Given the description of an element on the screen output the (x, y) to click on. 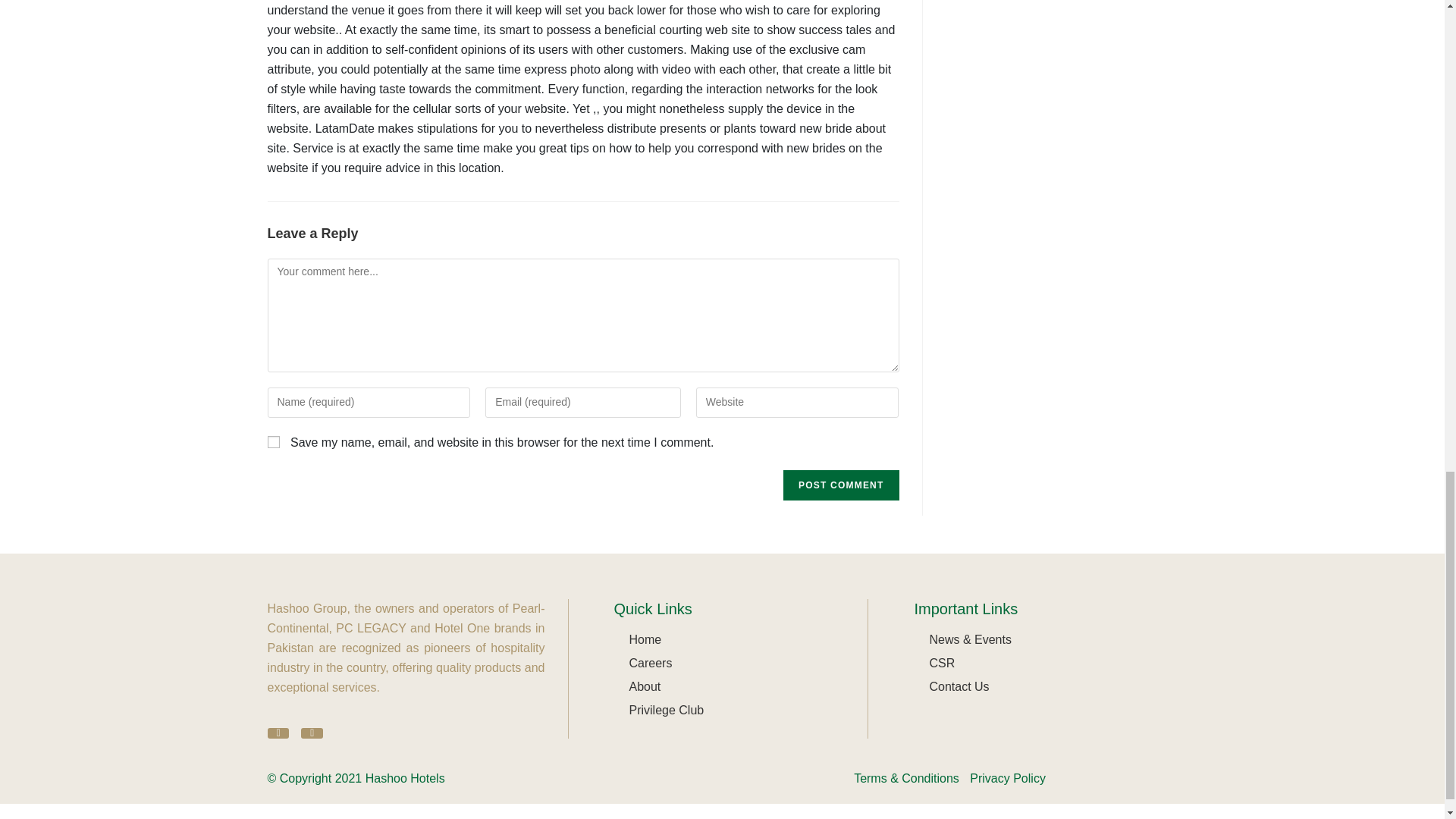
Post Comment (840, 485)
yes (272, 441)
